Given the description of an element on the screen output the (x, y) to click on. 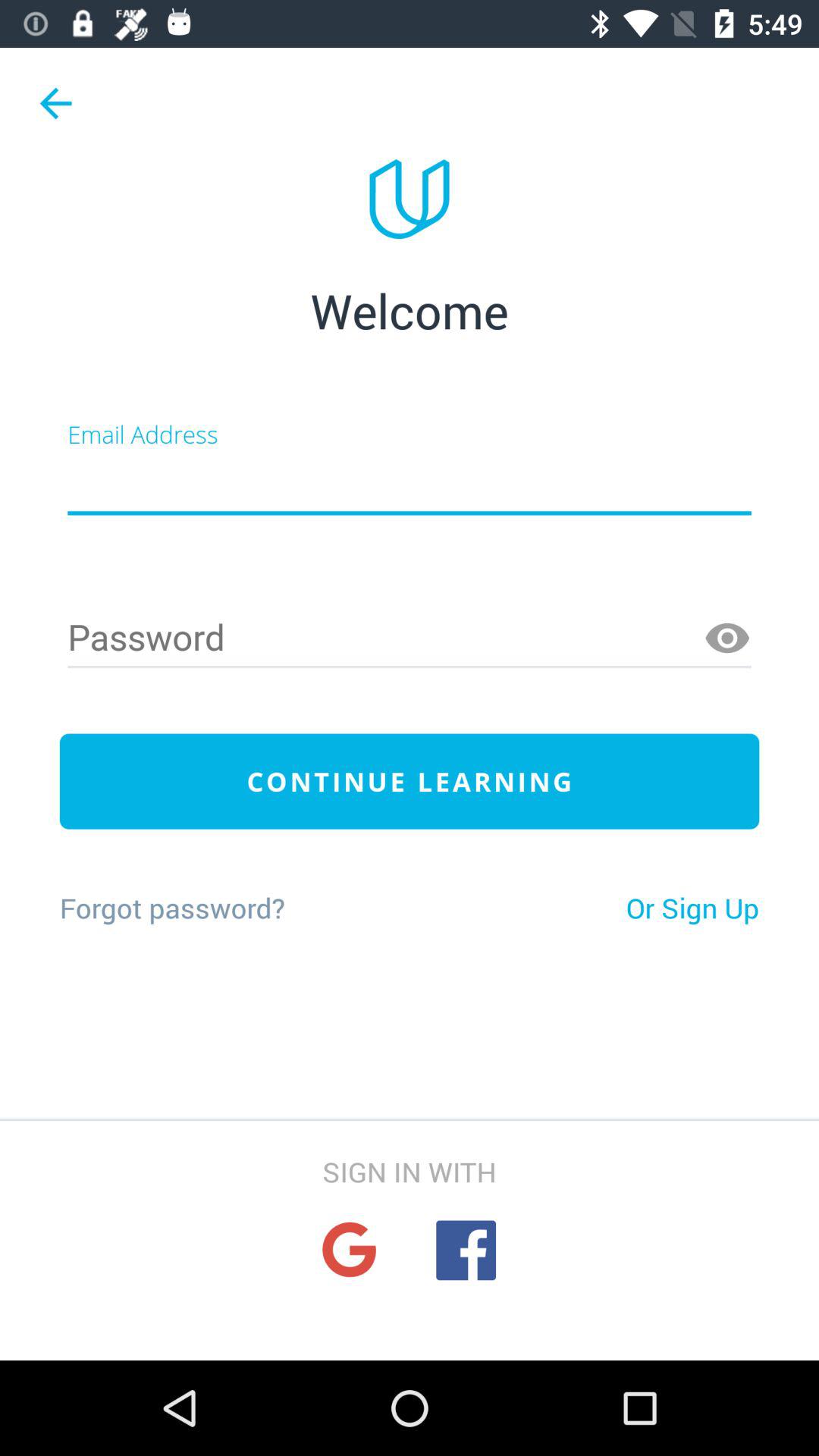
creat a new account (409, 483)
